Given the description of an element on the screen output the (x, y) to click on. 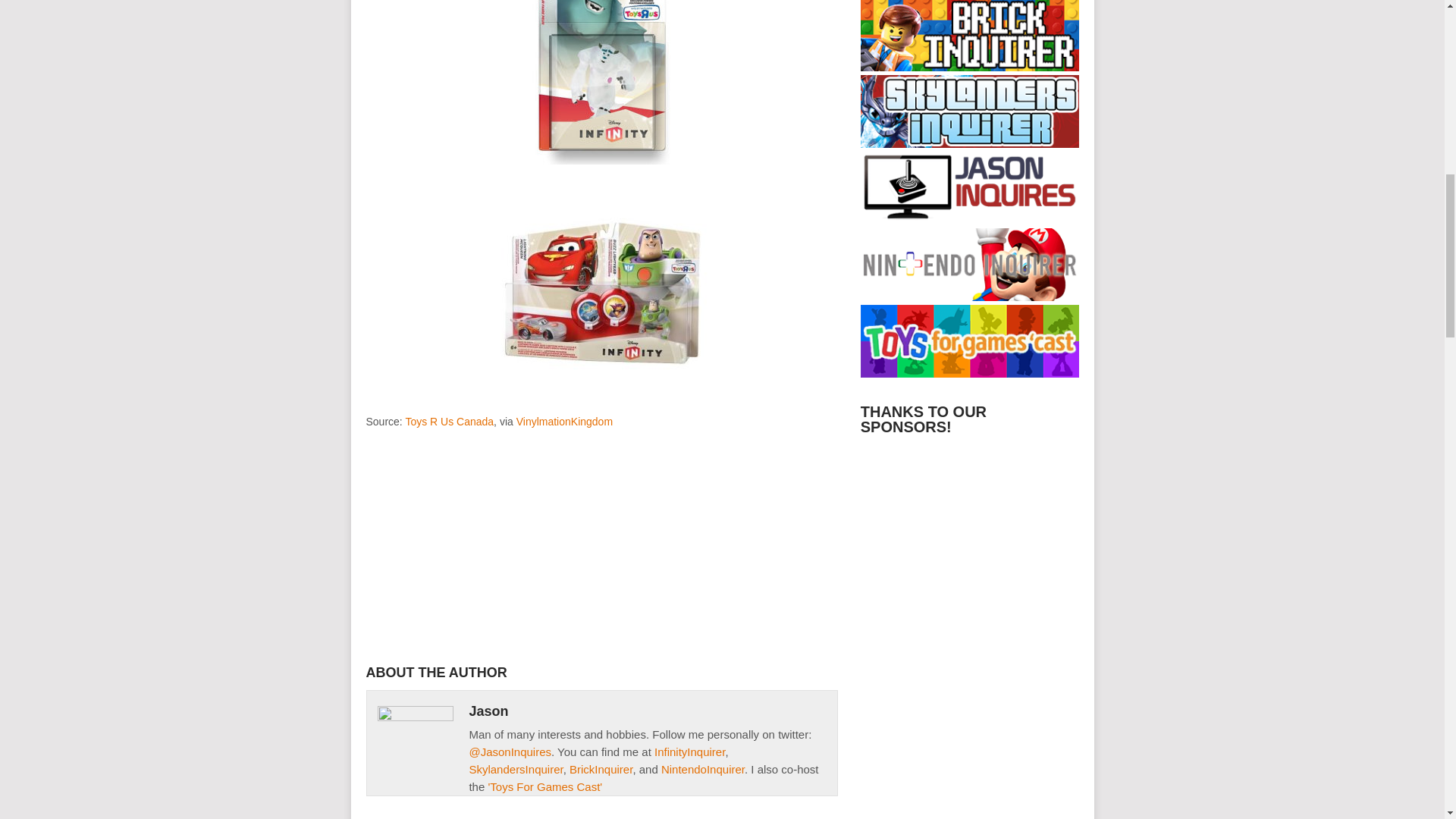
Toys R Us Canada (448, 421)
InfinityInquirer (689, 750)
BrickInquirer (600, 768)
VinylmationKingdom (564, 421)
NintendoInquirer (702, 768)
SkylandersInquirer (515, 768)
'Toys For Games Cast' (544, 785)
